Given the description of an element on the screen output the (x, y) to click on. 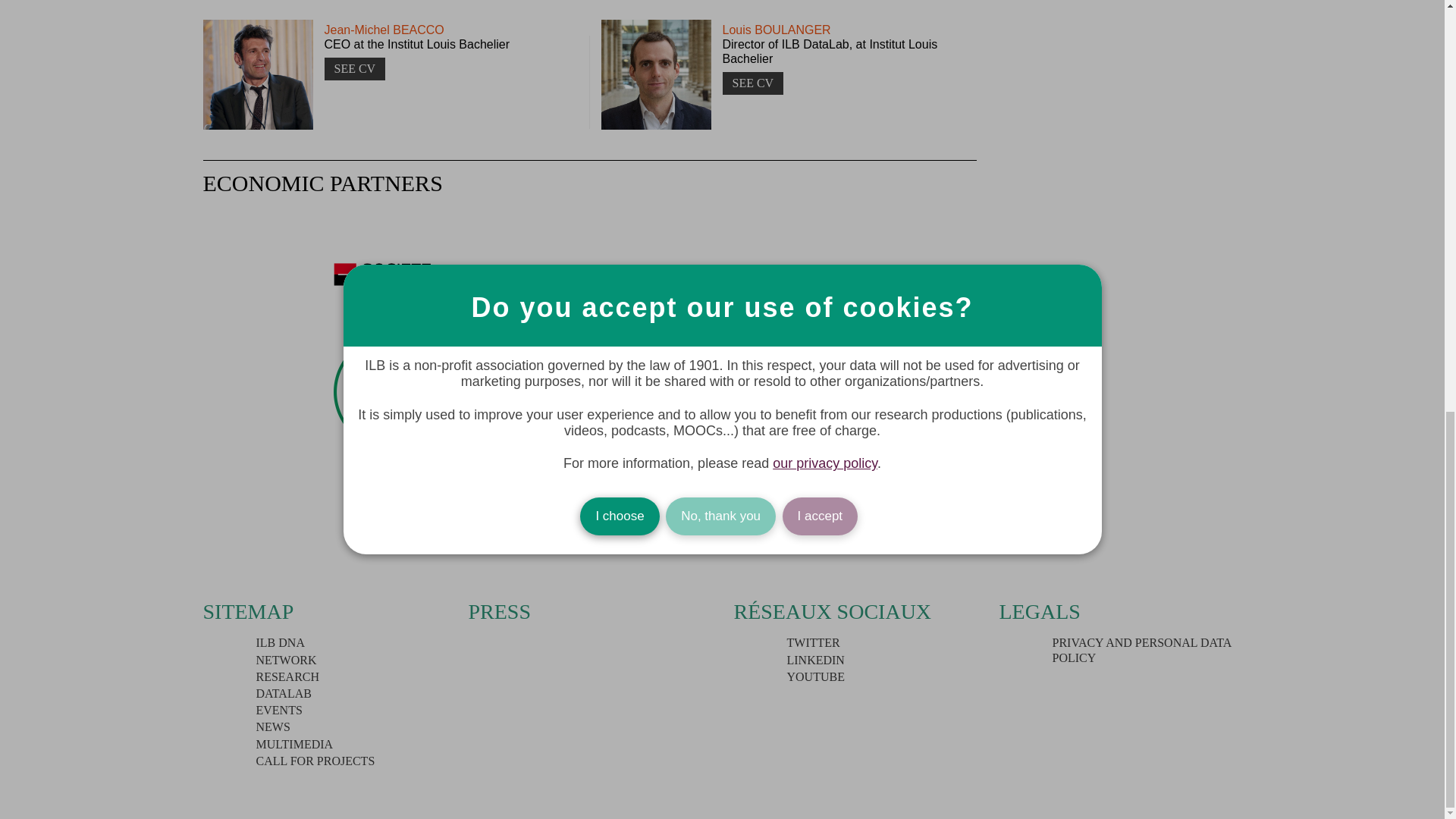
See CV (752, 83)
See CV (354, 68)
Press (499, 611)
